Given the description of an element on the screen output the (x, y) to click on. 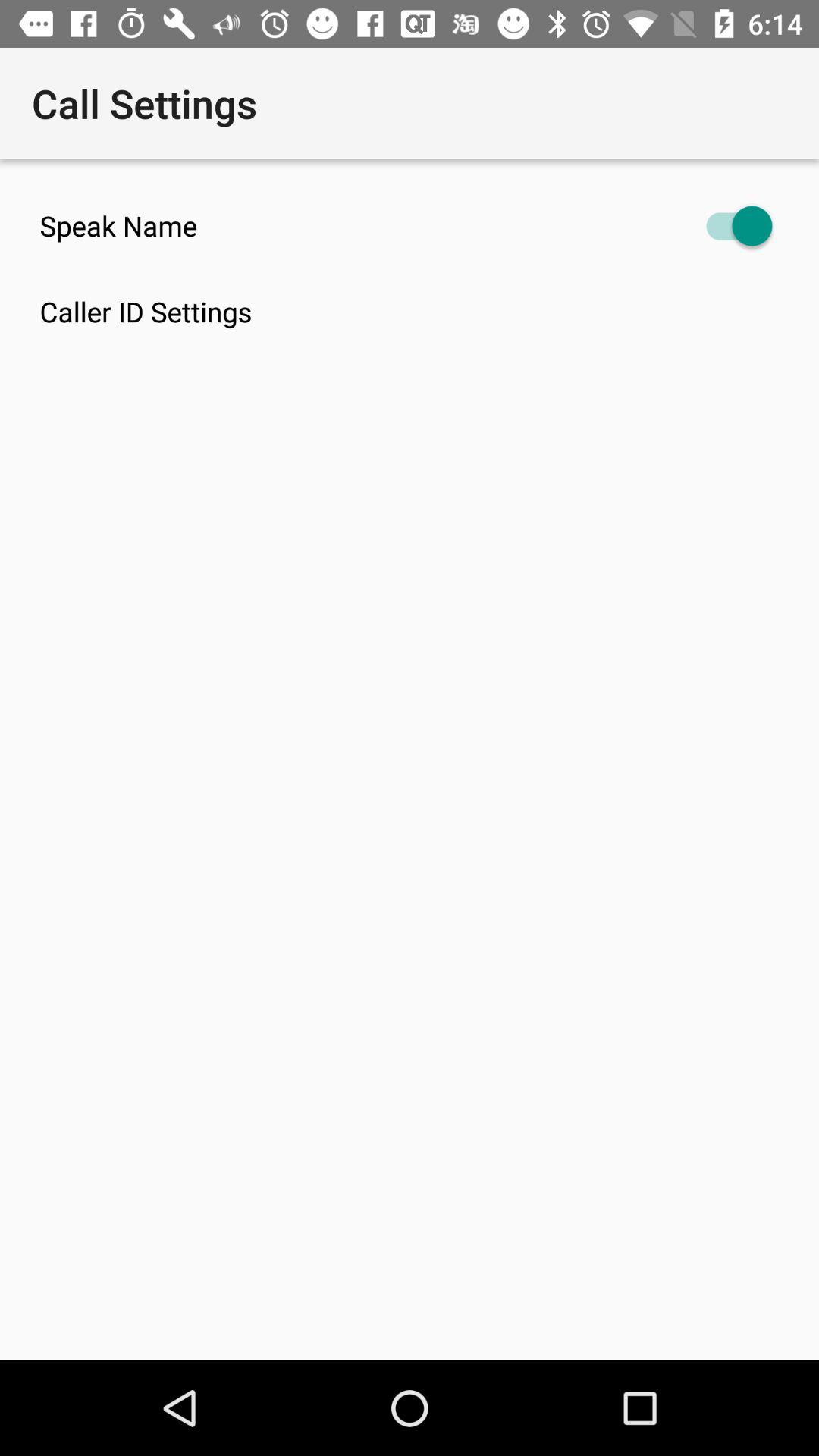
choose speak name icon (409, 226)
